Given the description of an element on the screen output the (x, y) to click on. 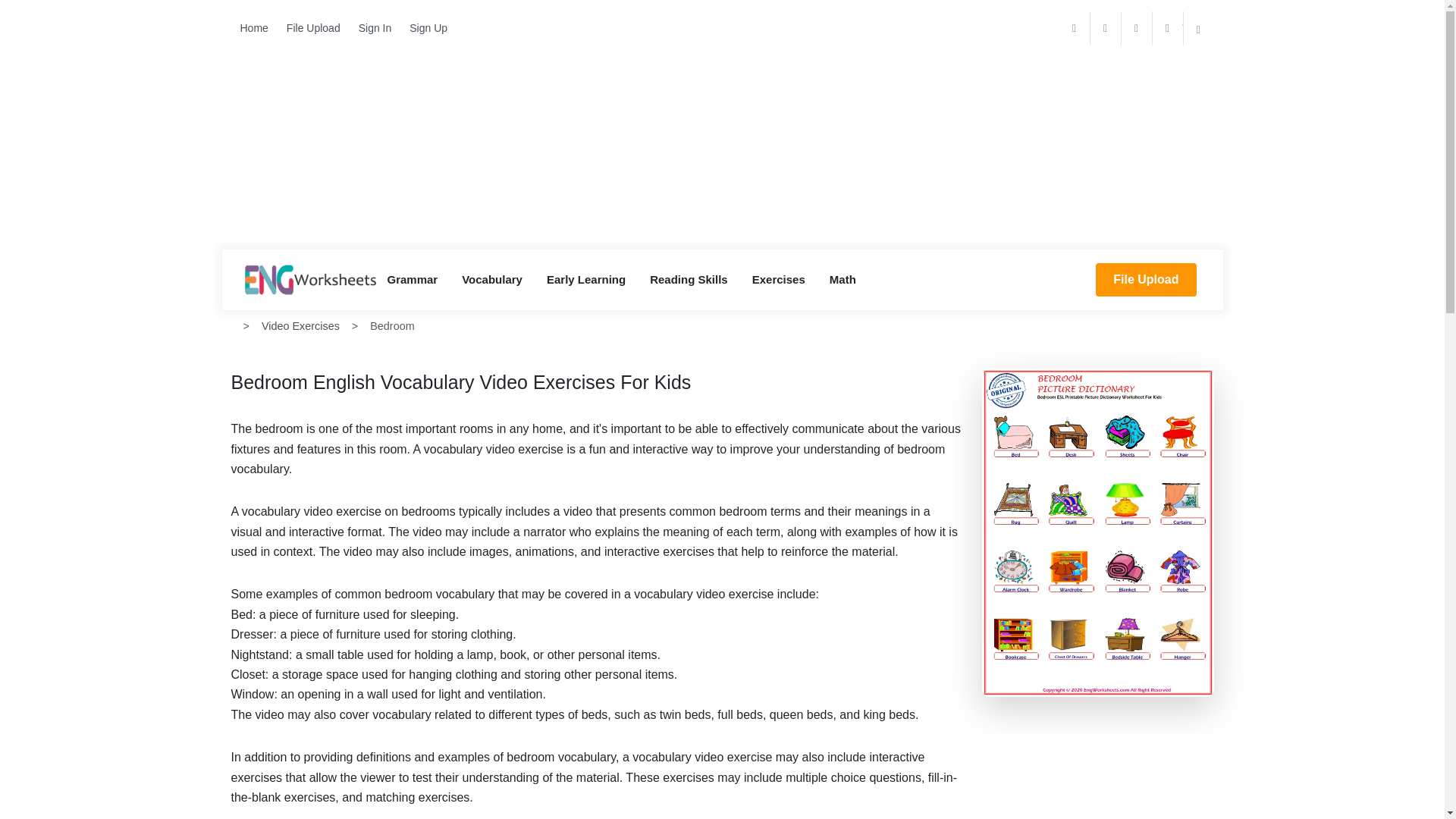
File Upload (313, 28)
Exercises (778, 279)
Reading Skills (689, 279)
Grammar (412, 279)
Video Exercises (300, 326)
File Upload (1145, 279)
Sign In (375, 28)
Home (253, 28)
Sign Up (428, 28)
Advertisement (721, 136)
Early Learning (586, 279)
Vocabulary (491, 279)
